Given the description of an element on the screen output the (x, y) to click on. 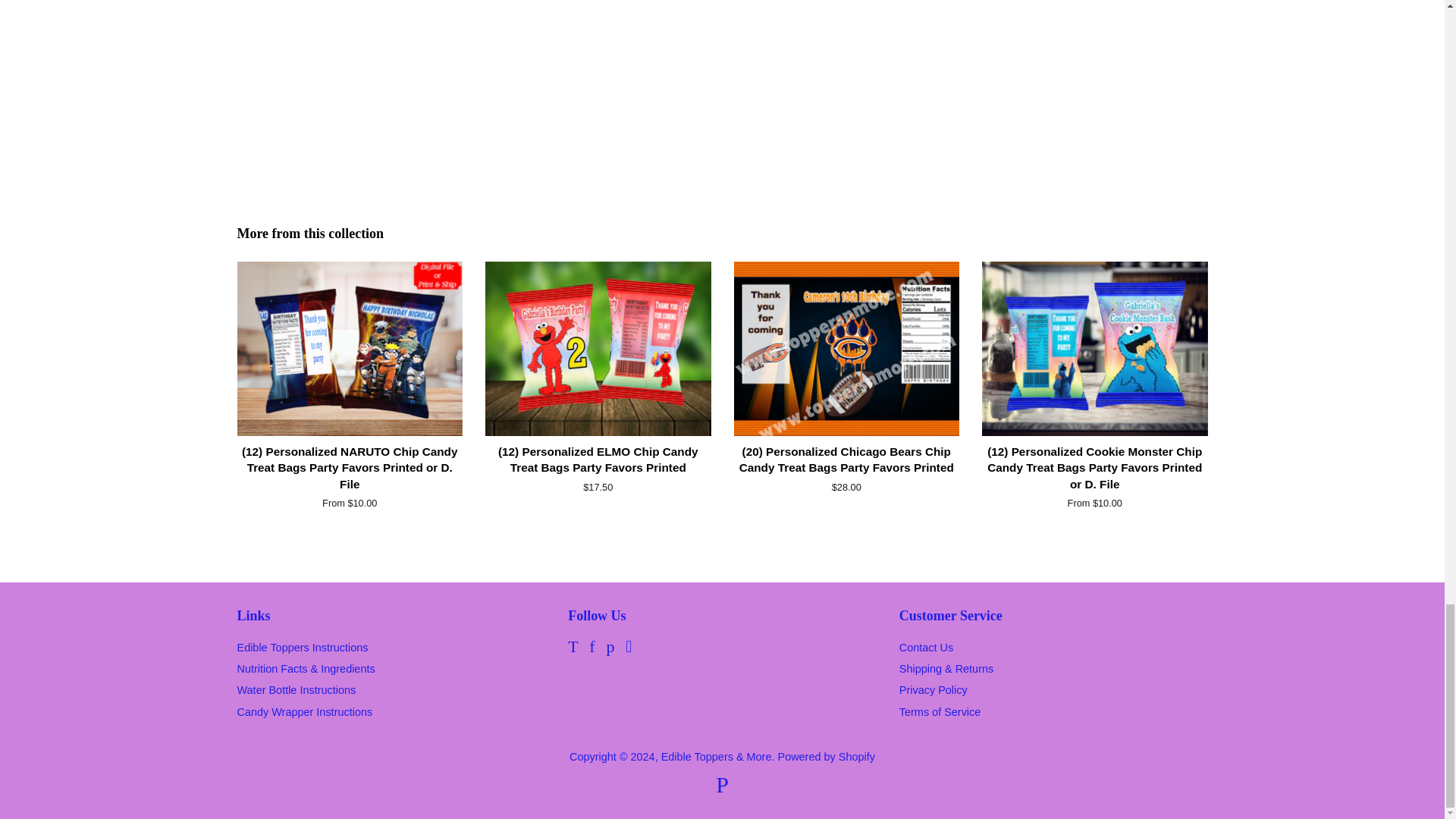
Water Bottle Instructions (295, 689)
Candy Wrapper Instructions (303, 711)
Edible Toppers Instructions (301, 647)
